Given the description of an element on the screen output the (x, y) to click on. 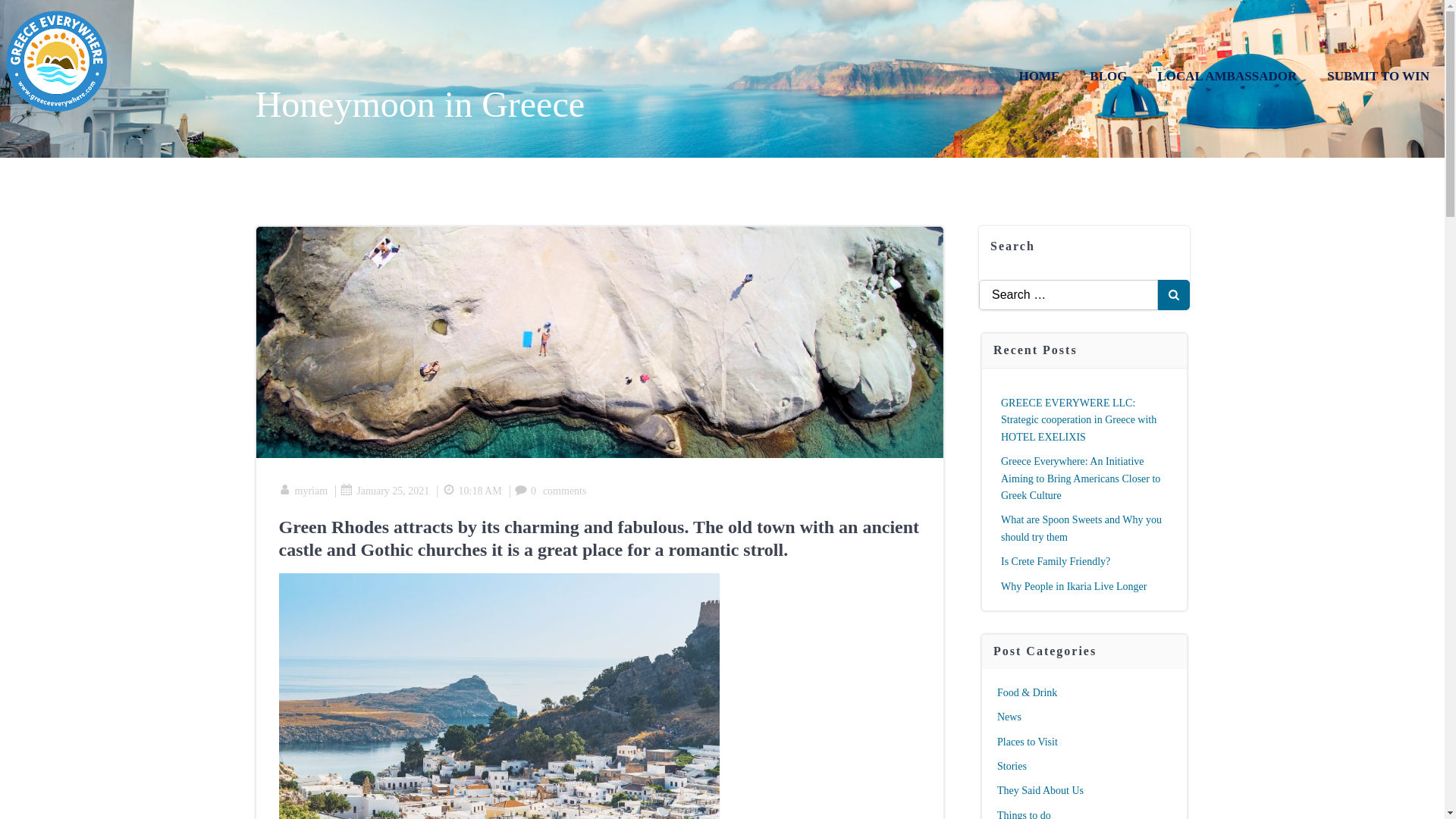
Things to do (1024, 814)
0 (525, 490)
Search  (30, 15)
Places to Visit (1027, 741)
Is Crete Family Friendly? (1055, 561)
HOME (1039, 76)
They Said About Us (1040, 790)
What are Spoon Sweets and Why you should try them (1081, 528)
LOCAL AMBASSADOR (1227, 76)
BLOG (1107, 76)
